Given the description of an element on the screen output the (x, y) to click on. 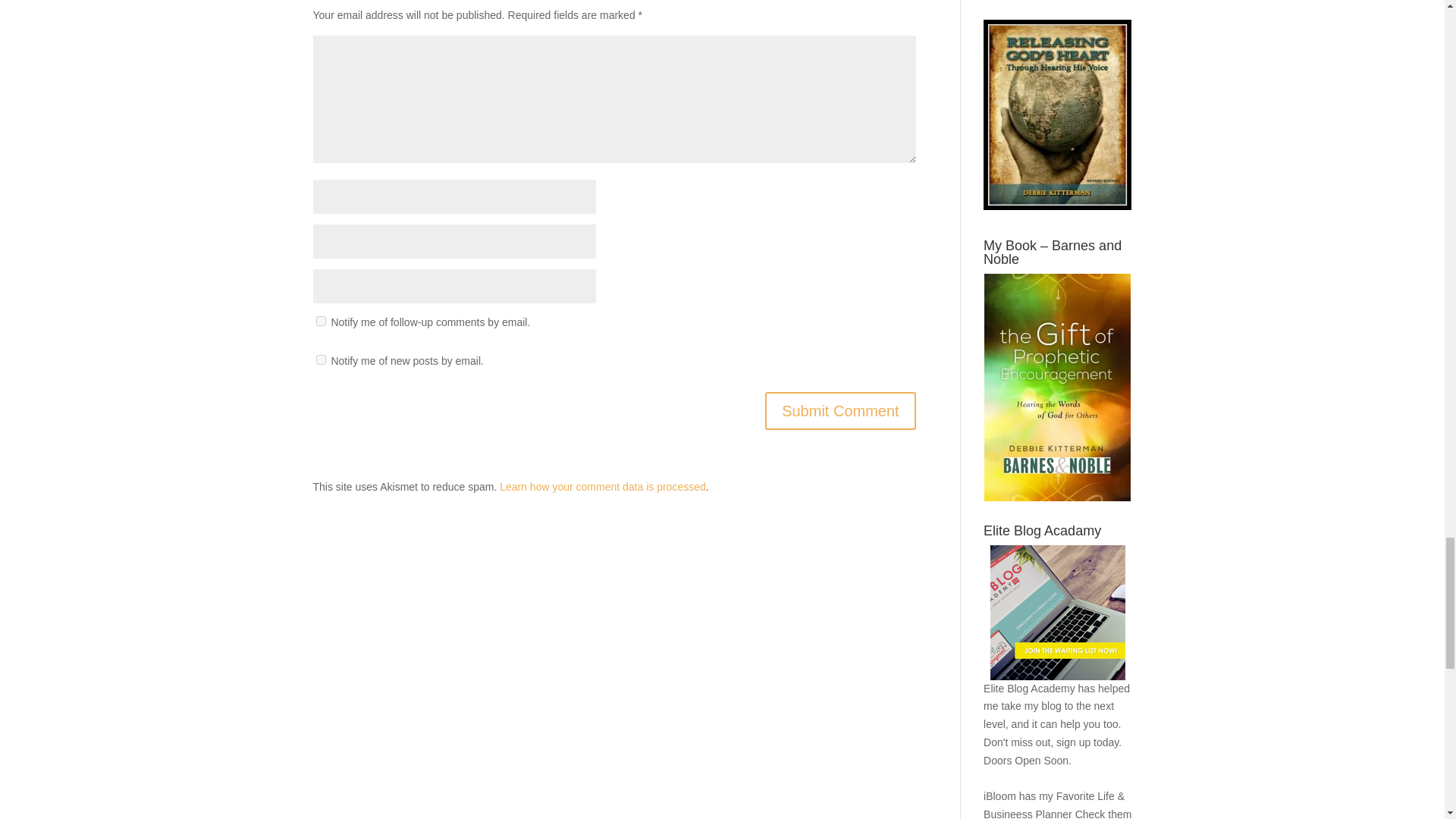
subscribe (319, 359)
subscribe (319, 320)
Submit Comment (840, 410)
